Given the description of an element on the screen output the (x, y) to click on. 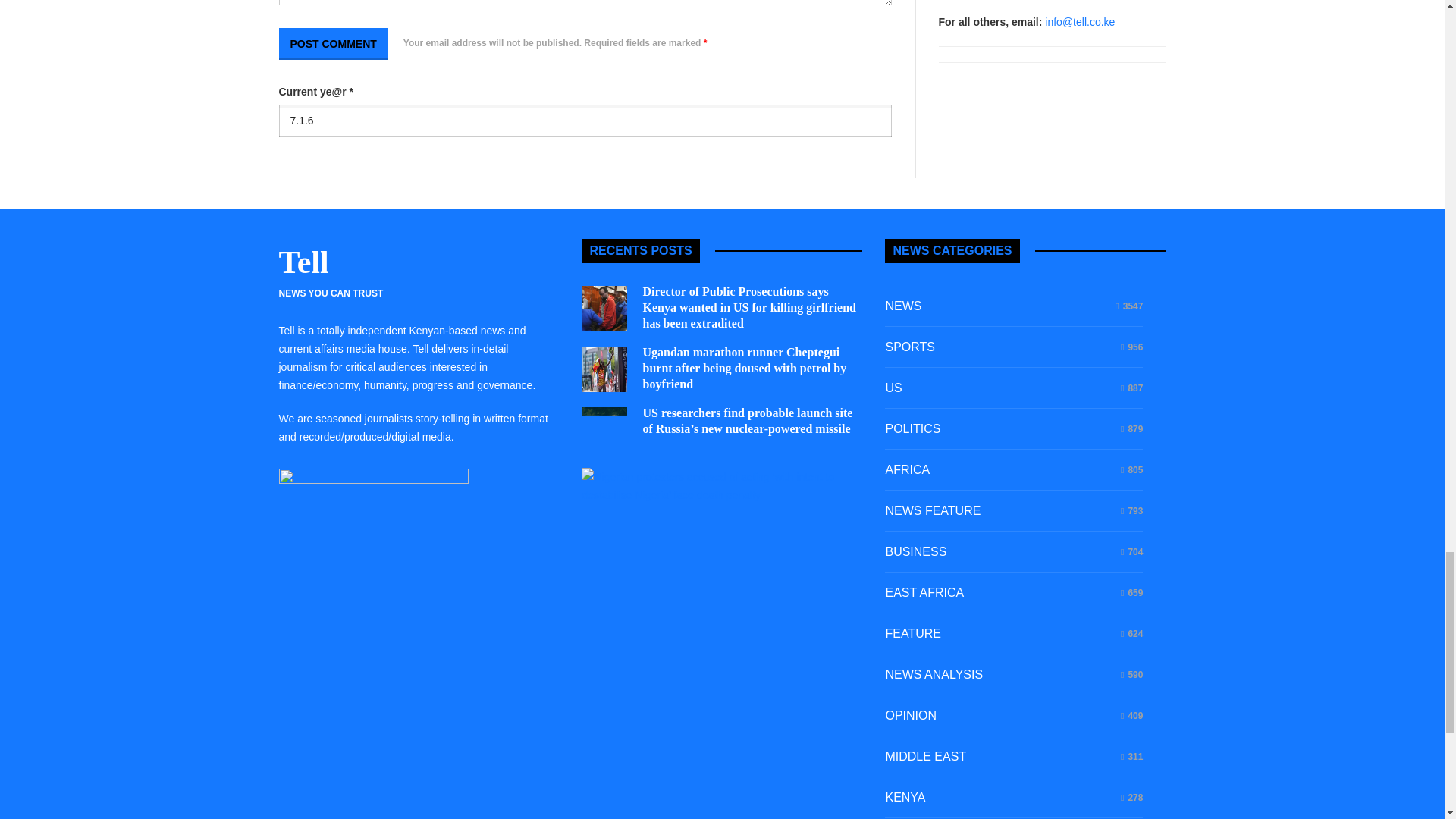
7.1.6 (585, 120)
Post comment (333, 43)
